Given the description of an element on the screen output the (x, y) to click on. 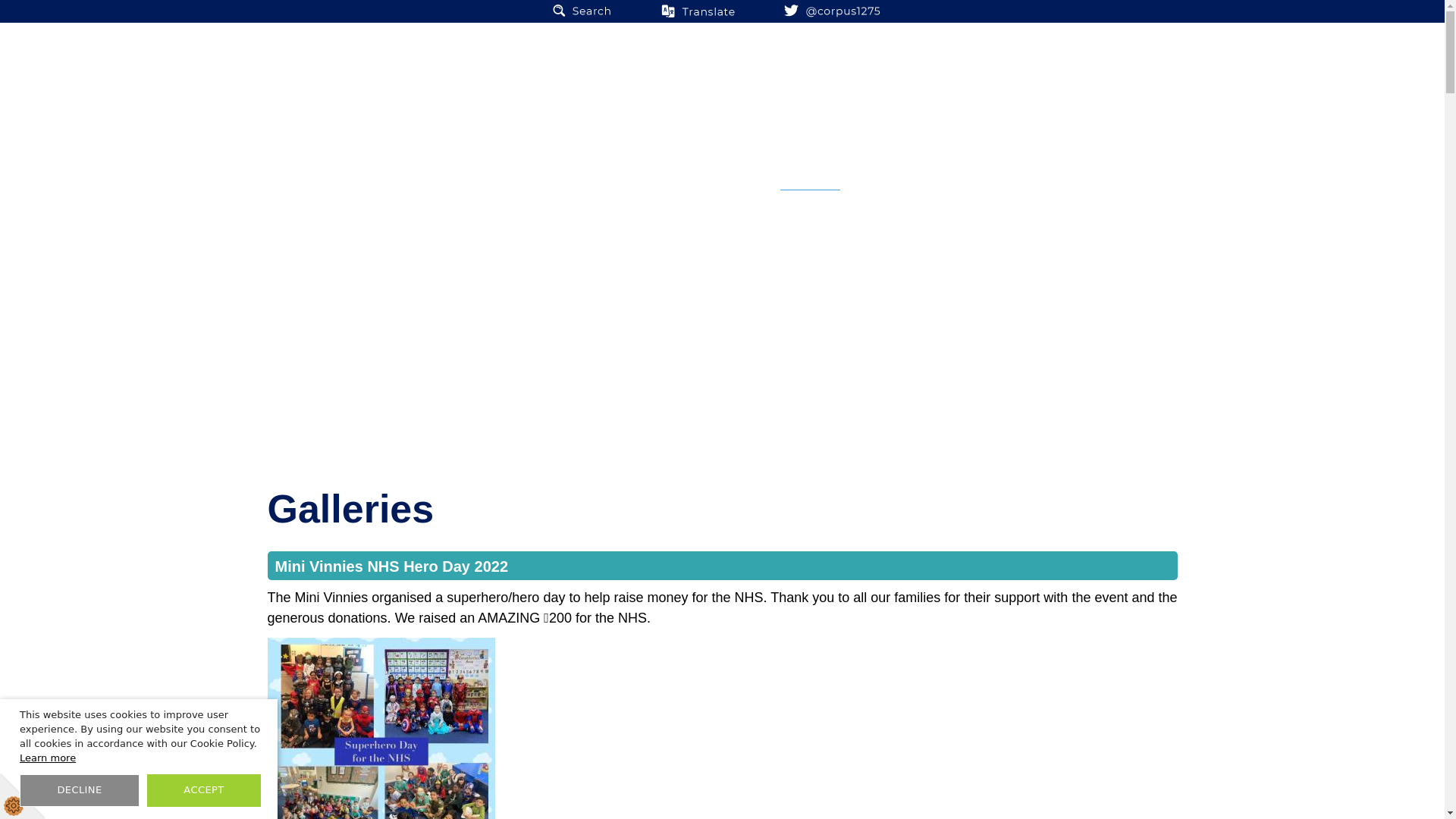
Our Catholic Life (489, 170)
Key Information (707, 170)
Home (390, 170)
About Us (600, 170)
